Given the description of an element on the screen output the (x, y) to click on. 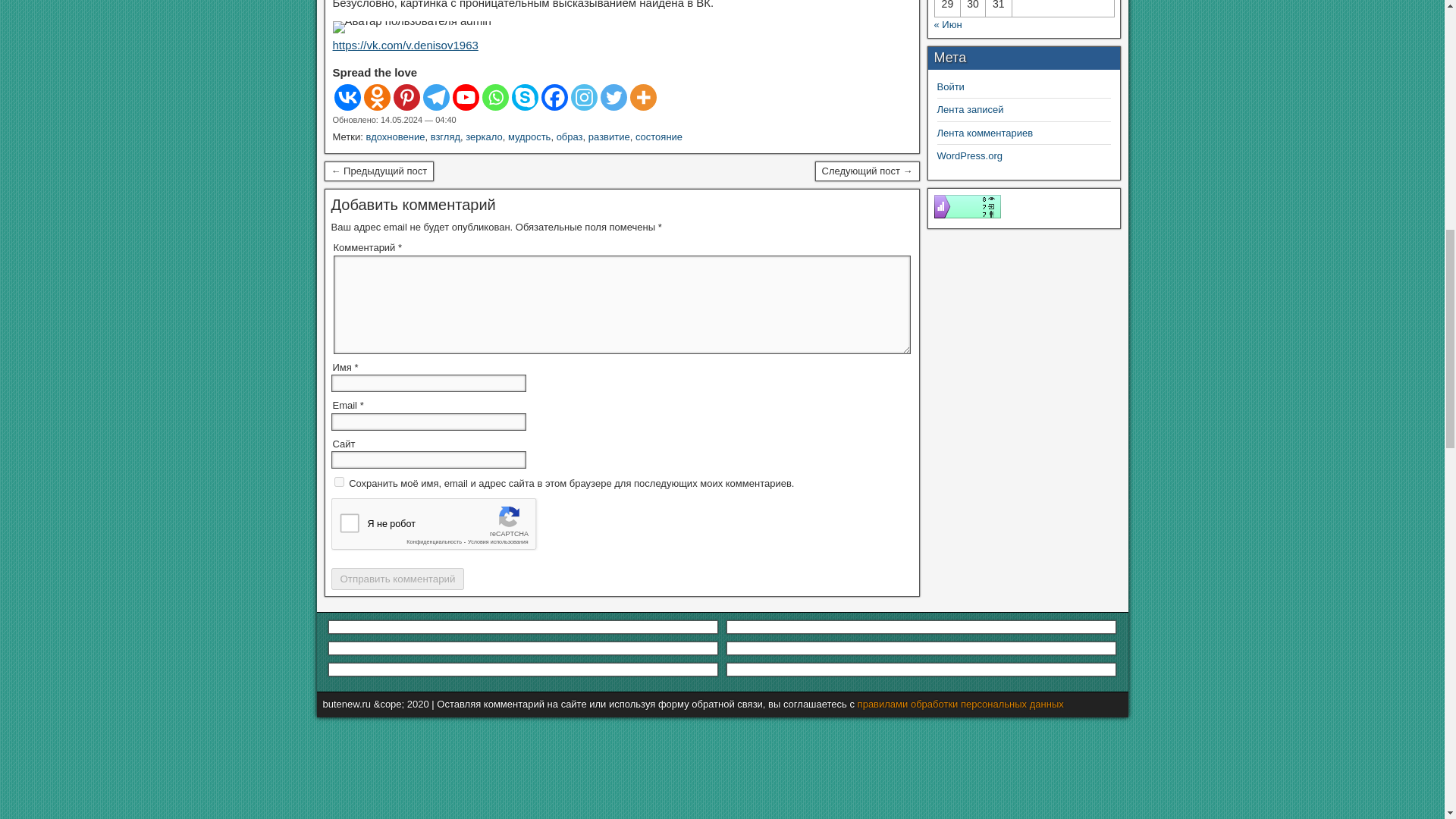
Instagram (583, 97)
Odnoklassniki (377, 97)
Twitter (613, 97)
Vkontakte (346, 97)
Pinterest (406, 97)
More (642, 97)
Facebook (554, 97)
Whatsapp (494, 97)
Youtube (465, 97)
reCAPTCHA (445, 527)
Telegram (436, 97)
Skype (524, 97)
yes (338, 481)
